Given the description of an element on the screen output the (x, y) to click on. 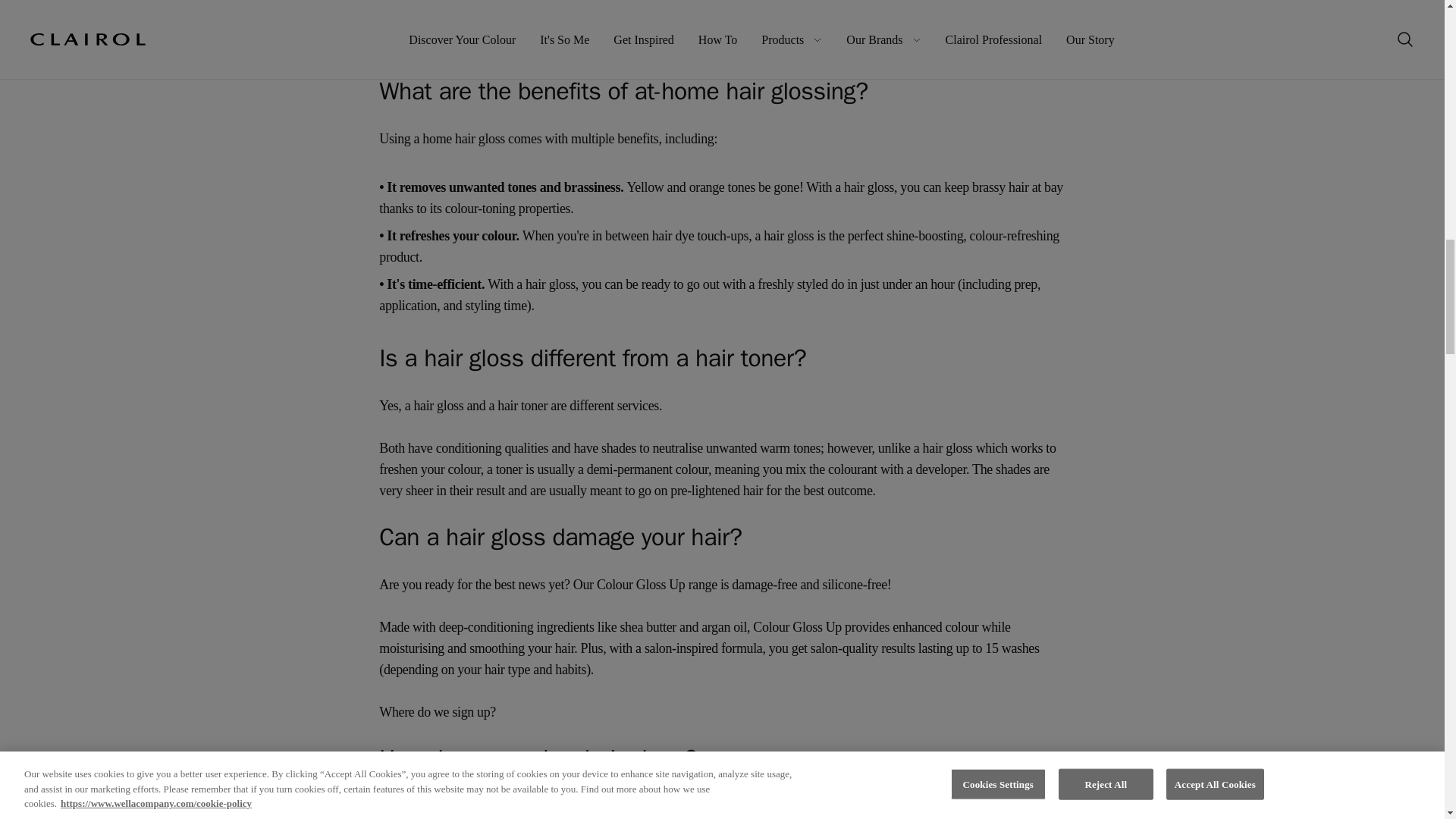
Colour Gloss Up (951, 23)
